Given the description of an element on the screen output the (x, y) to click on. 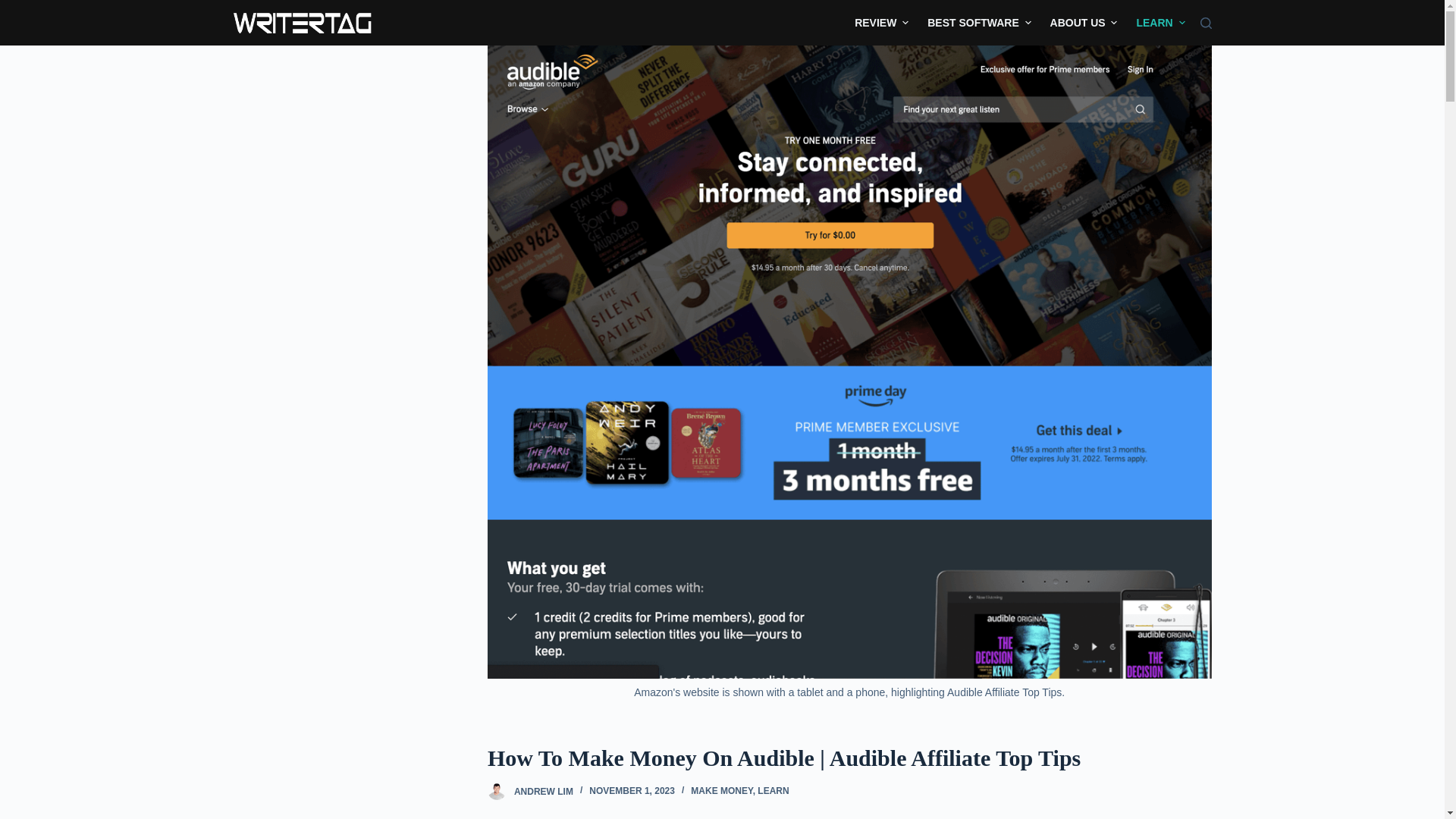
BEST SOFTWARE (979, 22)
REVIEW (886, 22)
Skip to content (15, 7)
LEARN (1155, 22)
Posts by Andrew Lim (543, 790)
ABOUT US (1083, 22)
